Given the description of an element on the screen output the (x, y) to click on. 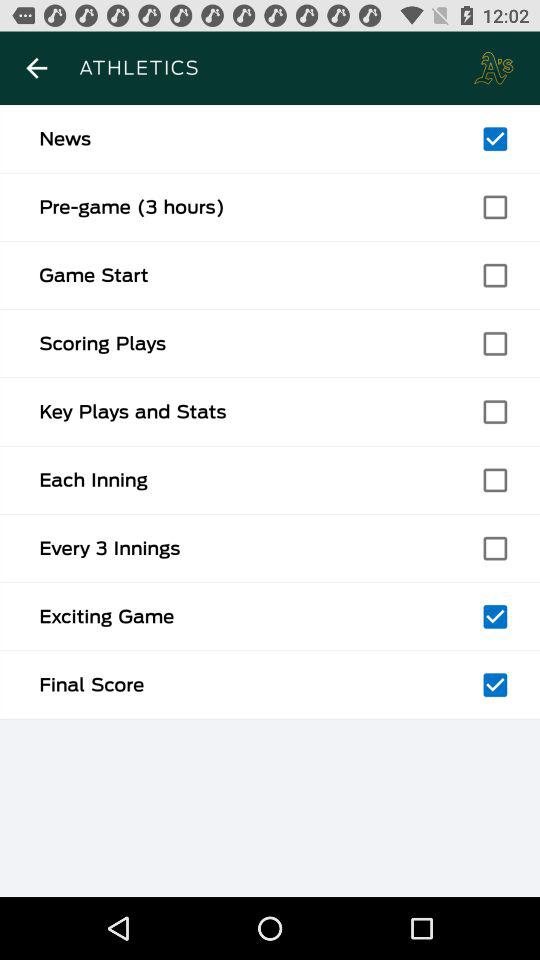
select option (495, 412)
